Given the description of an element on the screen output the (x, y) to click on. 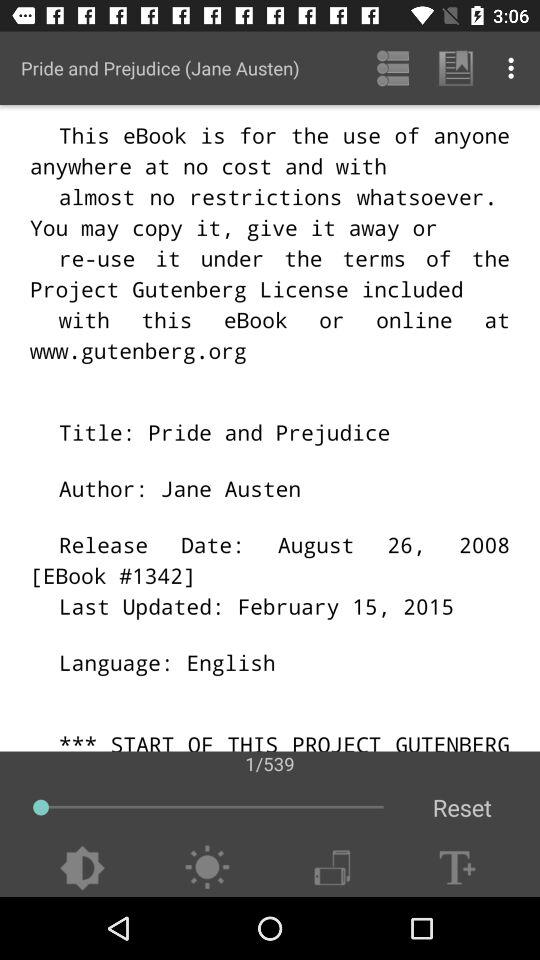
text icon (457, 867)
